Given the description of an element on the screen output the (x, y) to click on. 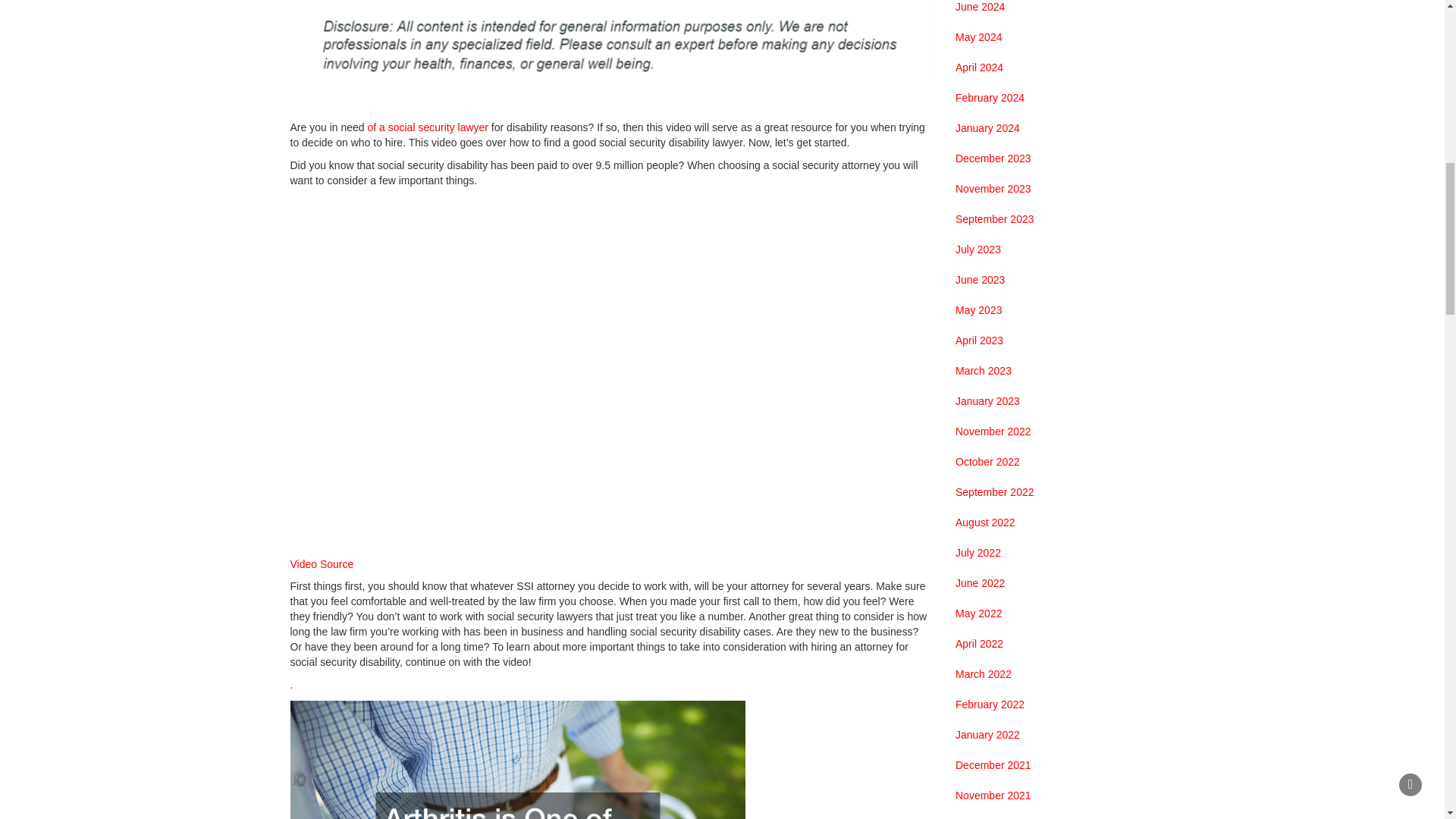
April 2024 (979, 68)
June 2023 (979, 280)
May 2022 (978, 613)
April 2023 (979, 340)
August 2022 (984, 522)
February 2022 (990, 704)
May 2024 (978, 37)
December 2023 (992, 159)
January 2022 (987, 735)
March 2022 (983, 674)
February 2024 (990, 98)
July 2022 (978, 553)
November 2022 (992, 432)
April 2022 (979, 644)
September 2023 (994, 219)
